Given the description of an element on the screen output the (x, y) to click on. 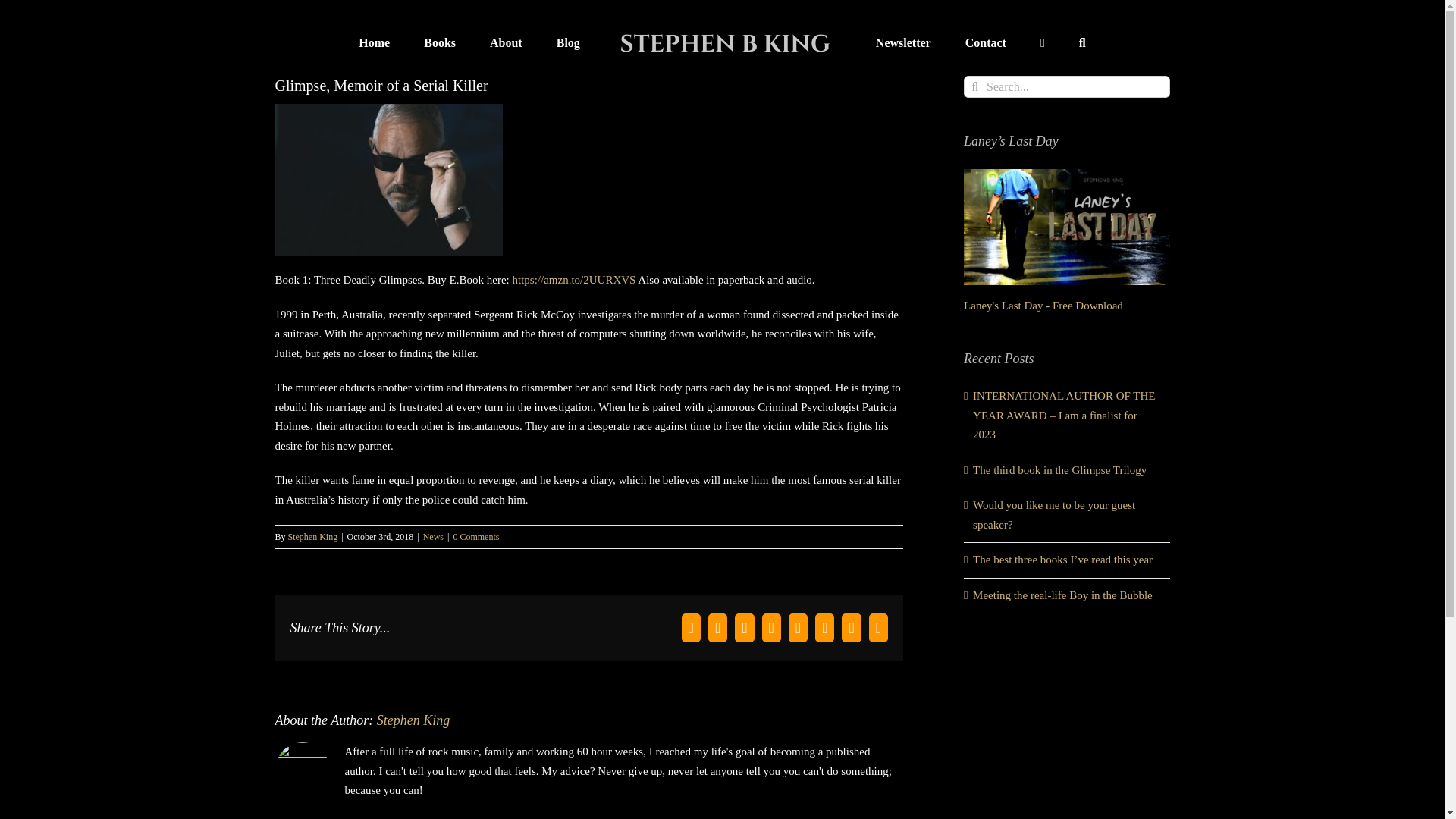
Stephen King (312, 536)
News (433, 536)
0 Comments (475, 536)
Posts by Stephen King (413, 720)
Stephen King (413, 720)
Posts by Stephen King (312, 536)
